Given the description of an element on the screen output the (x, y) to click on. 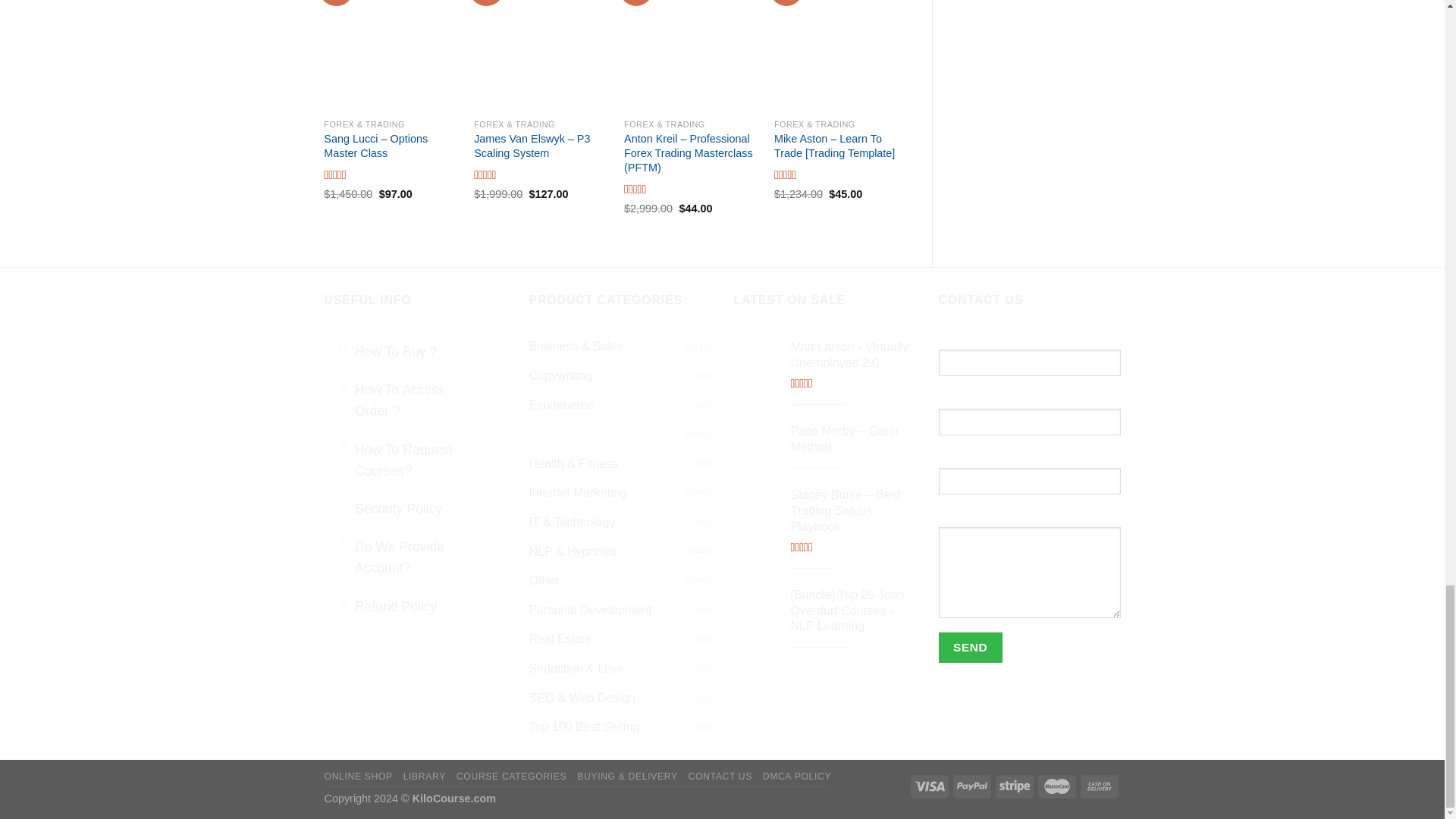
Send (971, 646)
